Given the description of an element on the screen output the (x, y) to click on. 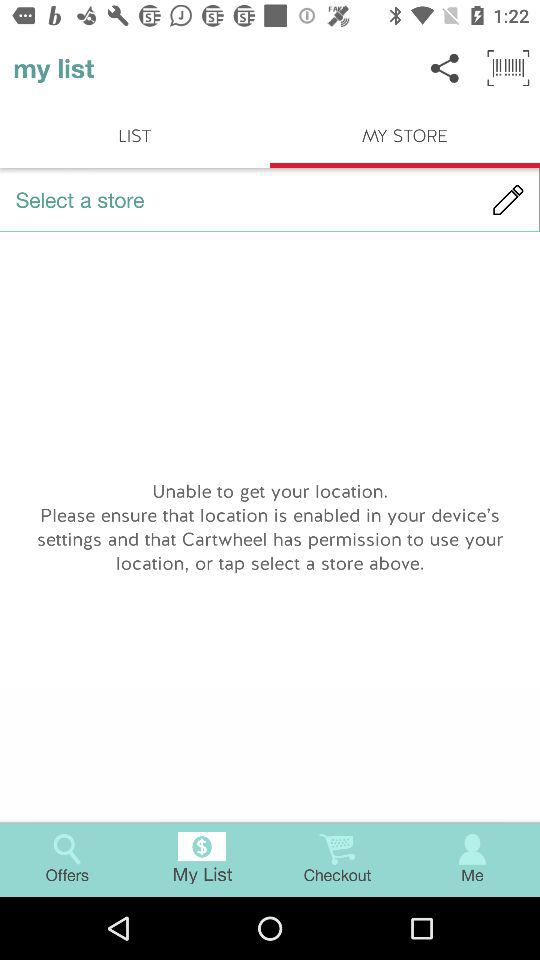
click the icon above the my store (444, 67)
